Given the description of an element on the screen output the (x, y) to click on. 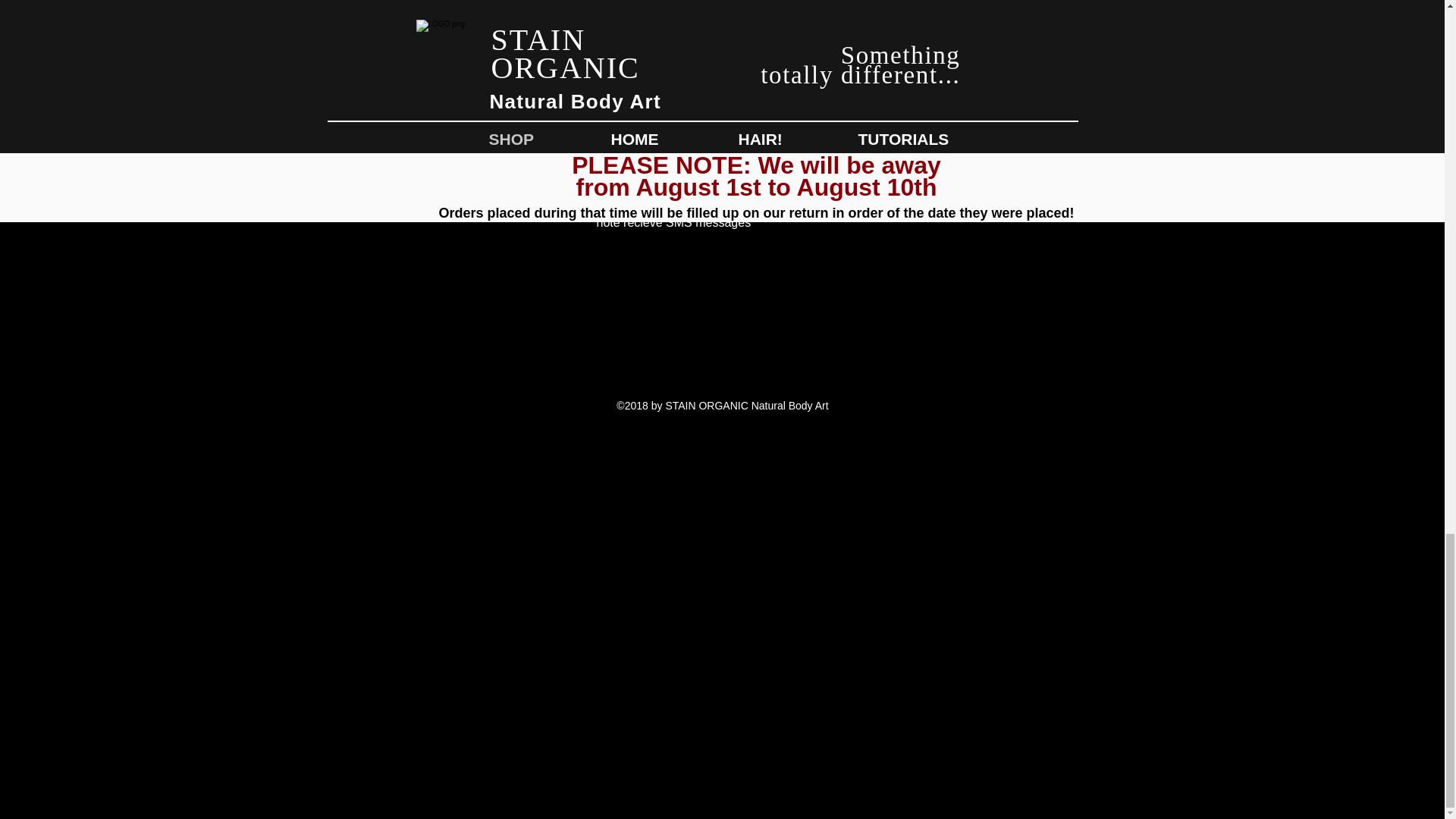
BACK TO TOP (919, 79)
Policies (458, 185)
FAQ (458, 124)
Shipping (458, 155)
